Given the description of an element on the screen output the (x, y) to click on. 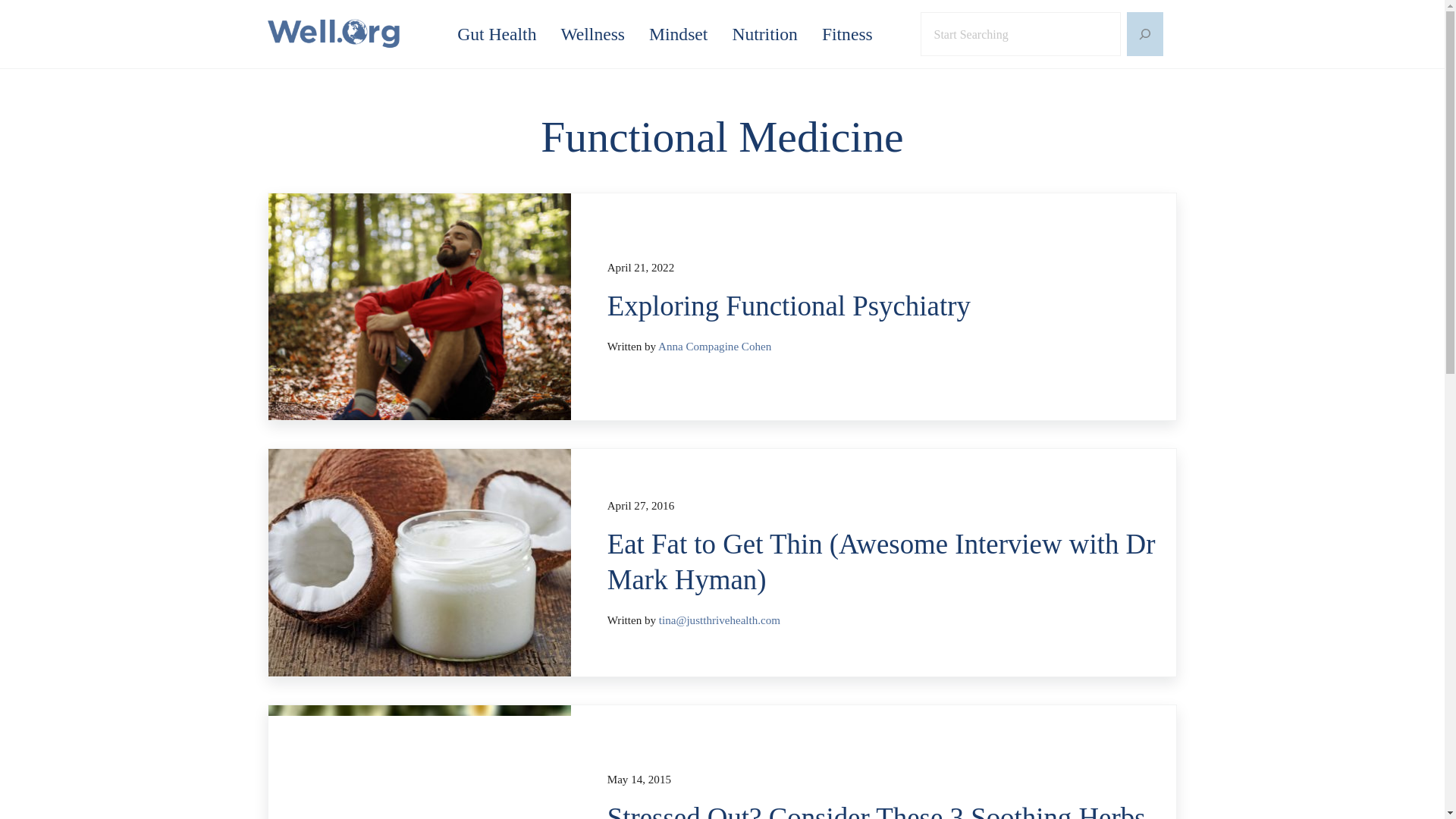
Gut Health (496, 34)
Nutrition (764, 34)
Wellness (592, 34)
Anna Compagine Cohen (714, 346)
Mindset (678, 34)
Search (1042, 33)
Fitness (847, 34)
Stressed Out? Consider These 3 Soothing Herbs (882, 809)
Exploring Functional Psychiatry (882, 306)
